Given the description of an element on the screen output the (x, y) to click on. 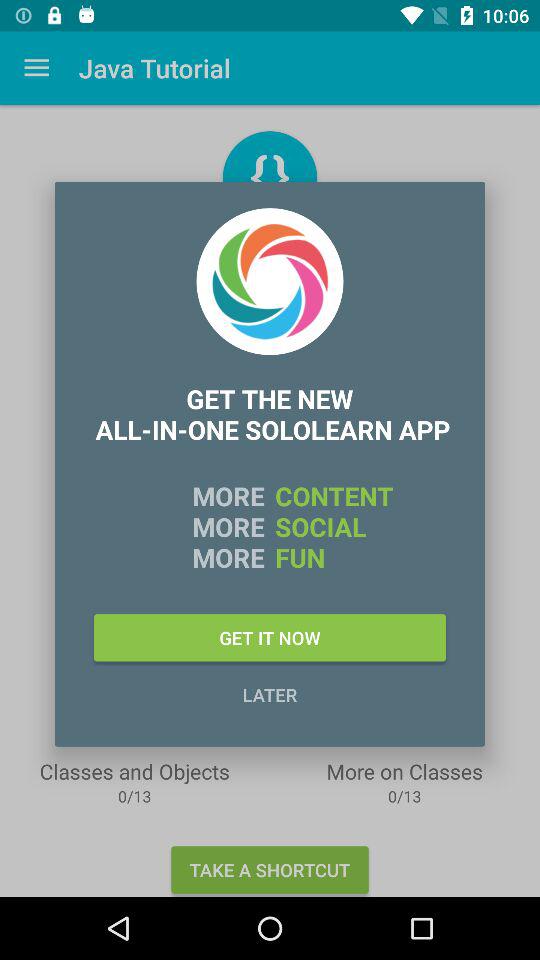
flip to later (269, 694)
